Given the description of an element on the screen output the (x, y) to click on. 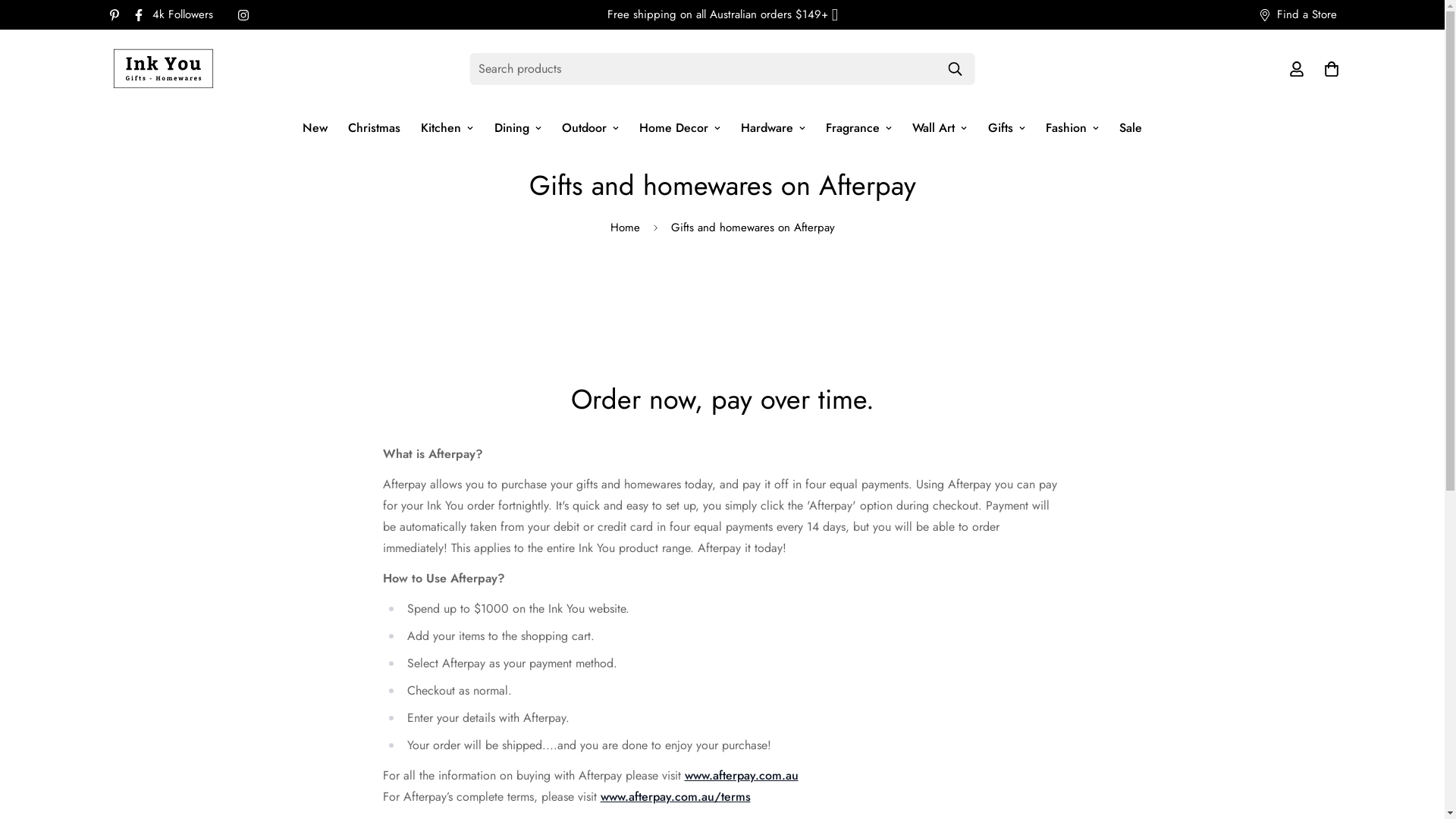
4k Followers Element type: text (177, 14)
New Element type: text (314, 127)
Christmas Element type: text (374, 127)
Home Element type: text (624, 227)
Fashion Element type: text (1071, 127)
Gifts Element type: text (1006, 127)
www.afterpay.com.au Element type: text (740, 774)
www.afterpay.com.au/terms Element type: text (675, 795)
Find a Store Element type: text (1297, 14)
Outdoor Element type: text (589, 127)
Kitchen Element type: text (447, 127)
Fragrance Element type: text (858, 127)
Ink You Element type: hover (162, 68)
Home Decor Element type: text (679, 127)
Sale Element type: text (1129, 127)
Hardware Element type: text (773, 127)
Dining Element type: text (517, 127)
Wall Art Element type: text (939, 127)
